Given the description of an element on the screen output the (x, y) to click on. 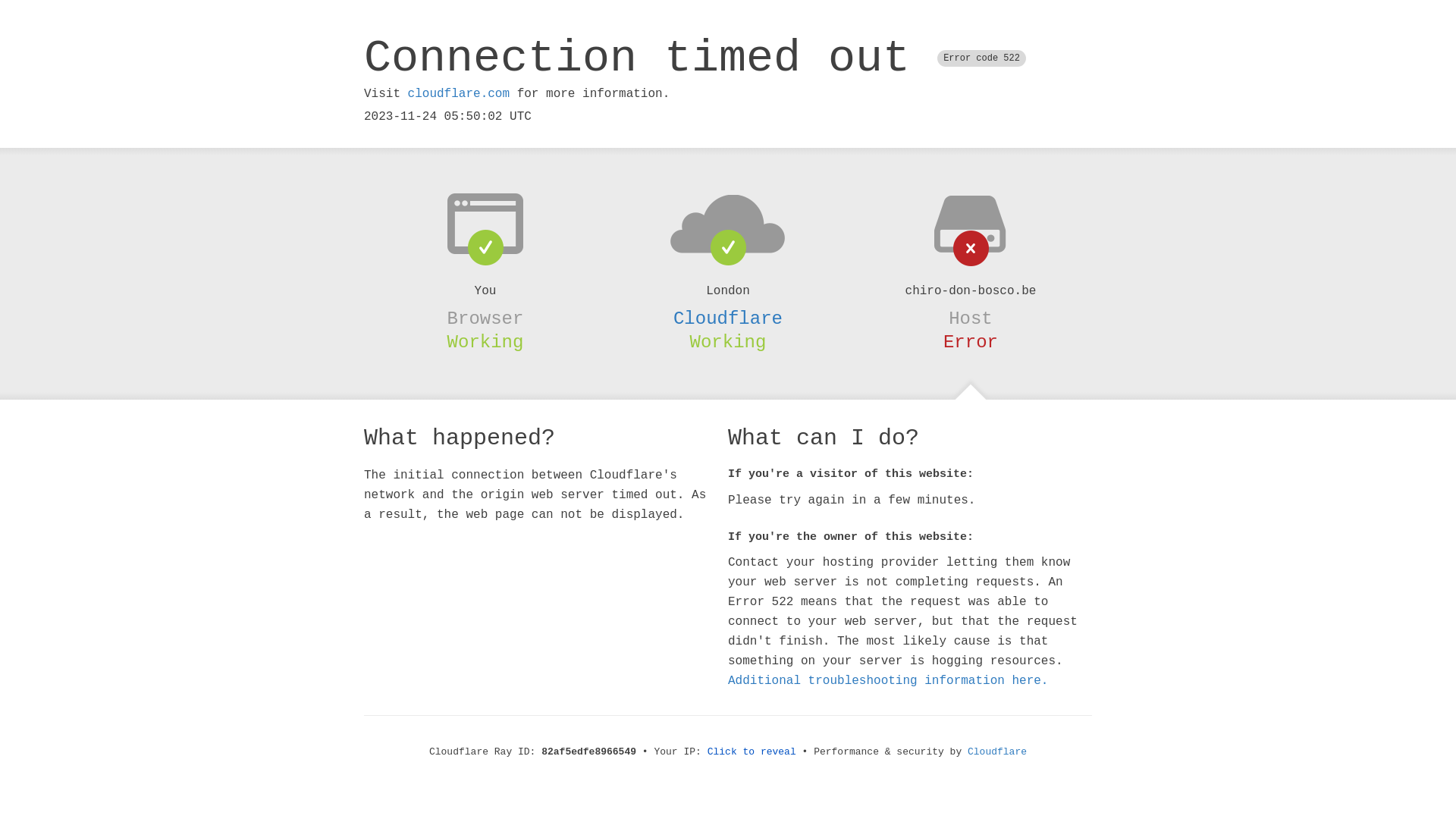
Cloudflare Element type: text (727, 318)
cloudflare.com Element type: text (458, 93)
Click to reveal Element type: text (751, 751)
Cloudflare Element type: text (996, 751)
Additional troubleshooting information here. Element type: text (888, 680)
